Given the description of an element on the screen output the (x, y) to click on. 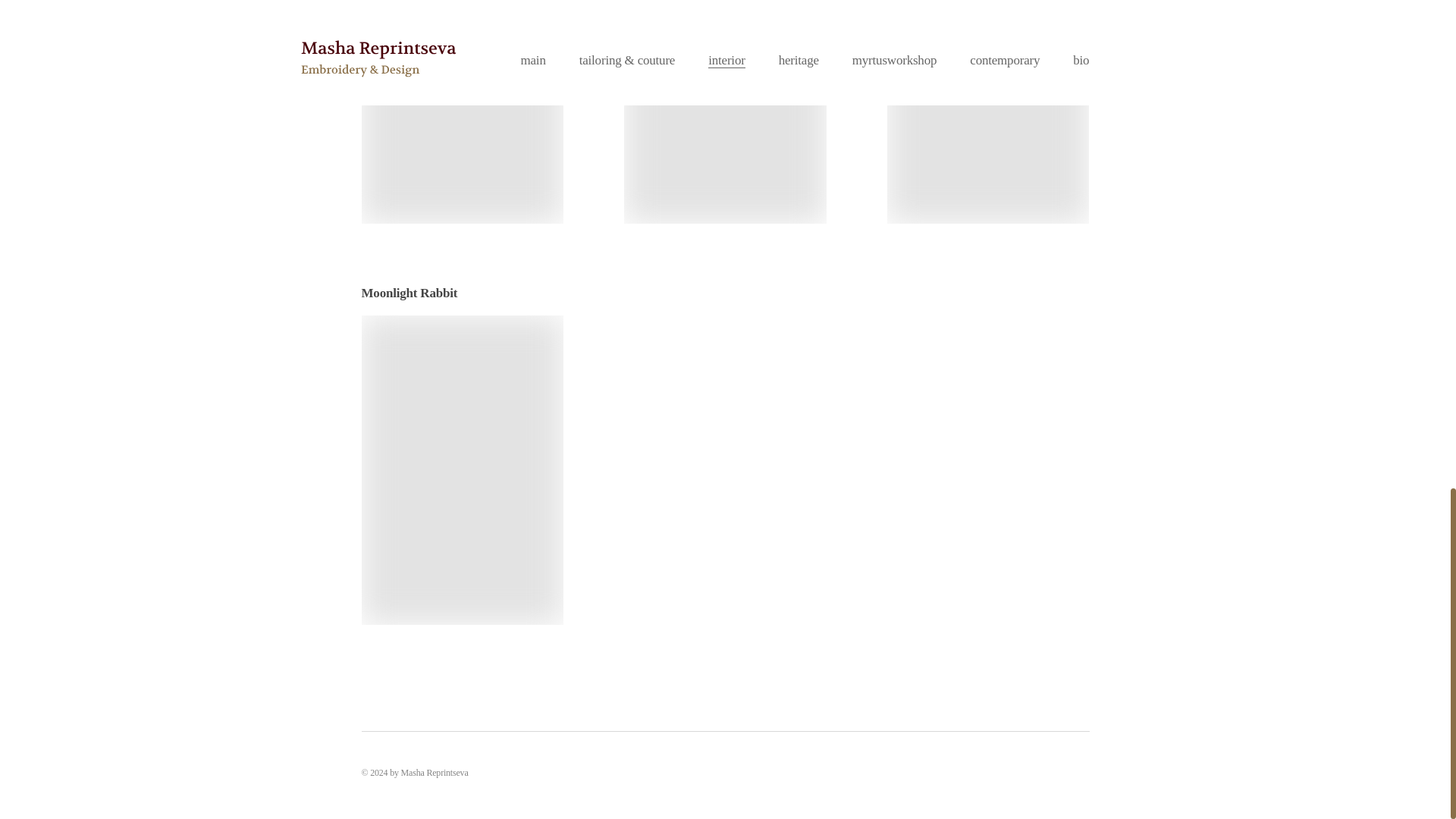
The Scent of Seasons (462, 111)
The Fifth Season (725, 111)
Cherry Blossom (987, 111)
